Given the description of an element on the screen output the (x, y) to click on. 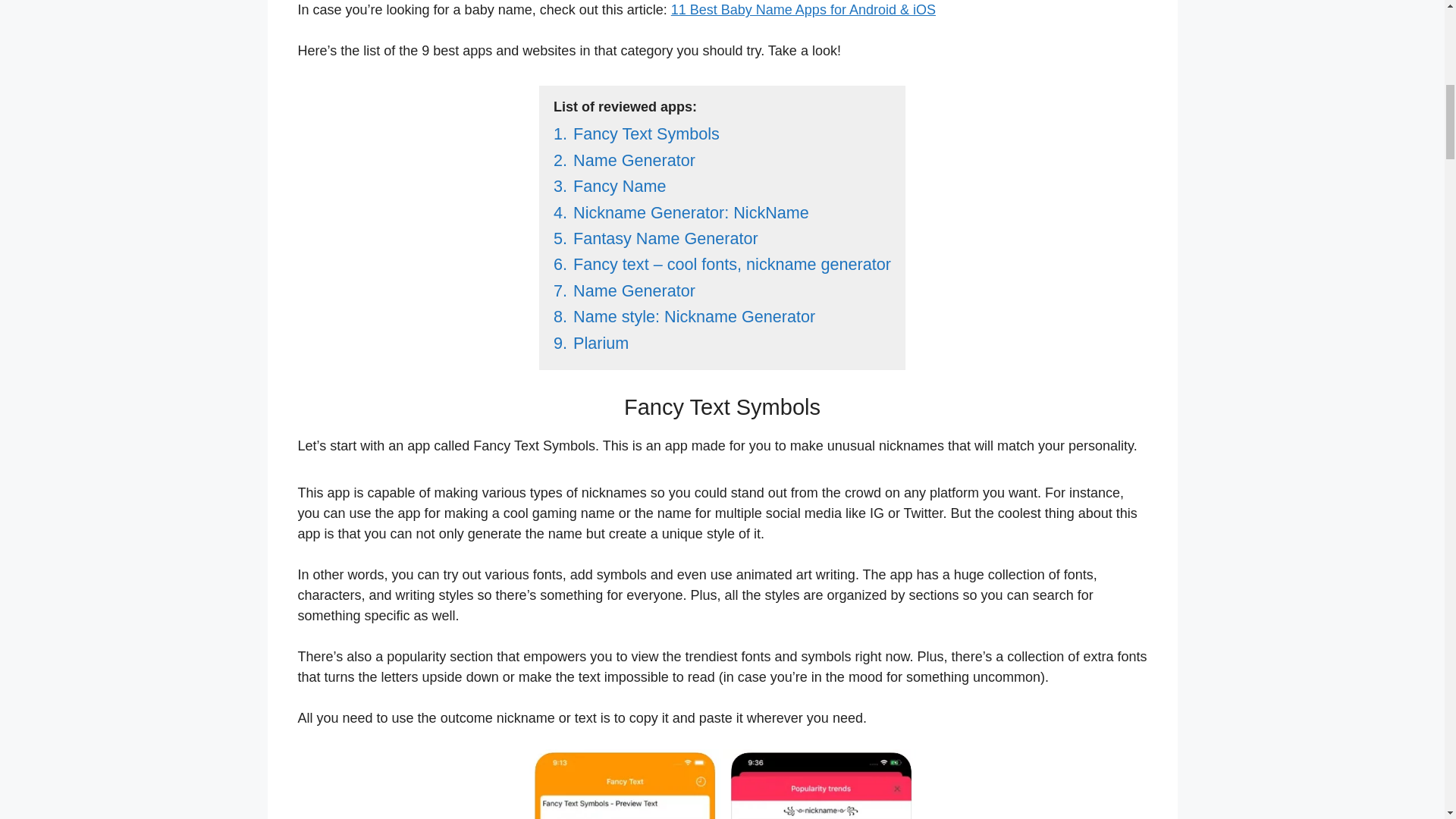
2. Name Generator (624, 159)
3. Fancy Name (609, 185)
9. Plarium (590, 342)
5. Fantasy Name Generator (655, 238)
7. Name Generator (624, 290)
4. Nickname Generator: NickName (681, 212)
1. Fancy Text Symbols (636, 133)
8. Name style: Nickname Generator (684, 316)
Scroll back to top (1406, 720)
